Given the description of an element on the screen output the (x, y) to click on. 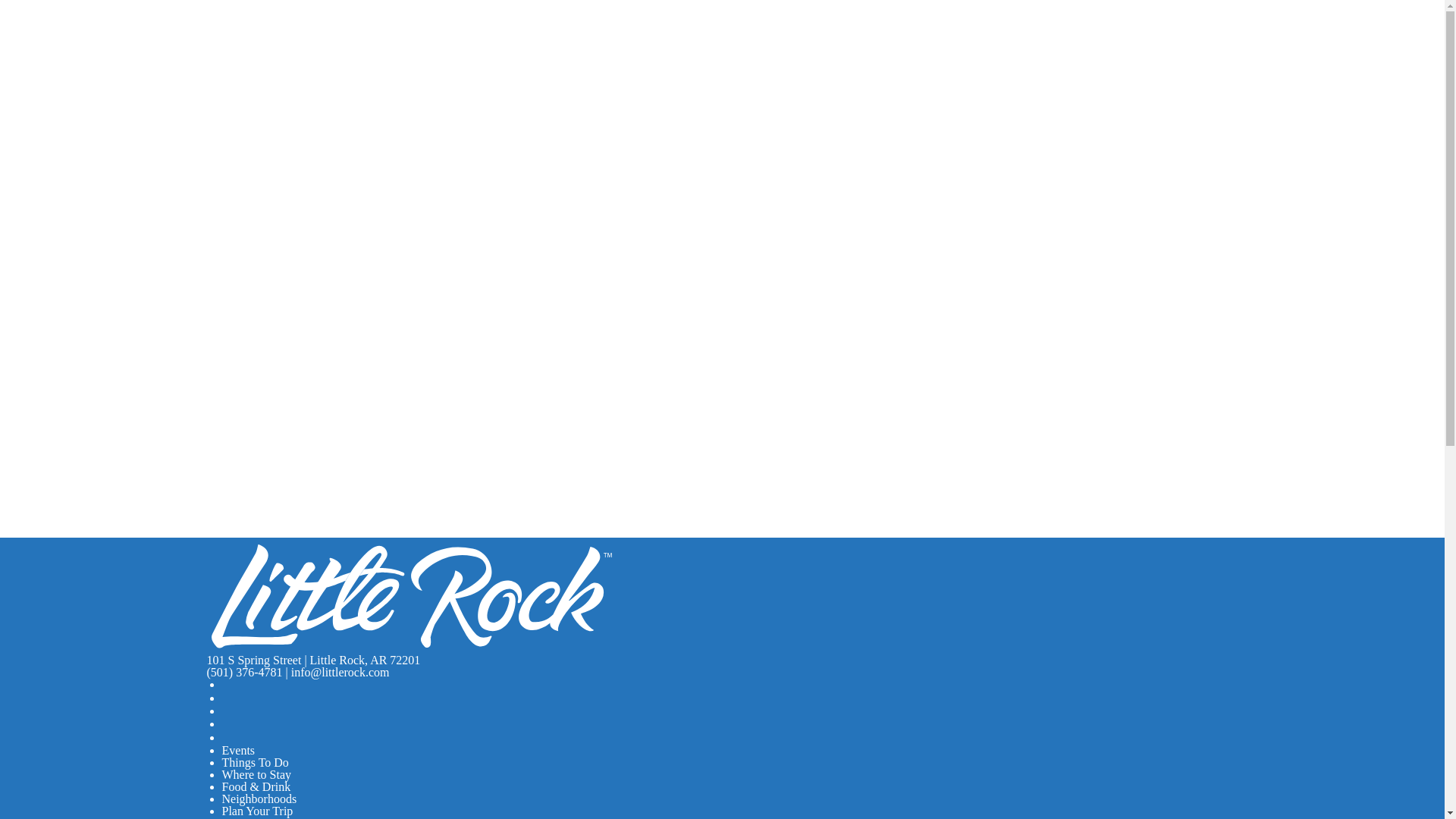
Where to Stay (256, 774)
TRIP PLANNER (271, 52)
Things To Do (254, 762)
Skip to content (17, 15)
MEETINGS (107, 52)
Events (237, 749)
